Given the description of an element on the screen output the (x, y) to click on. 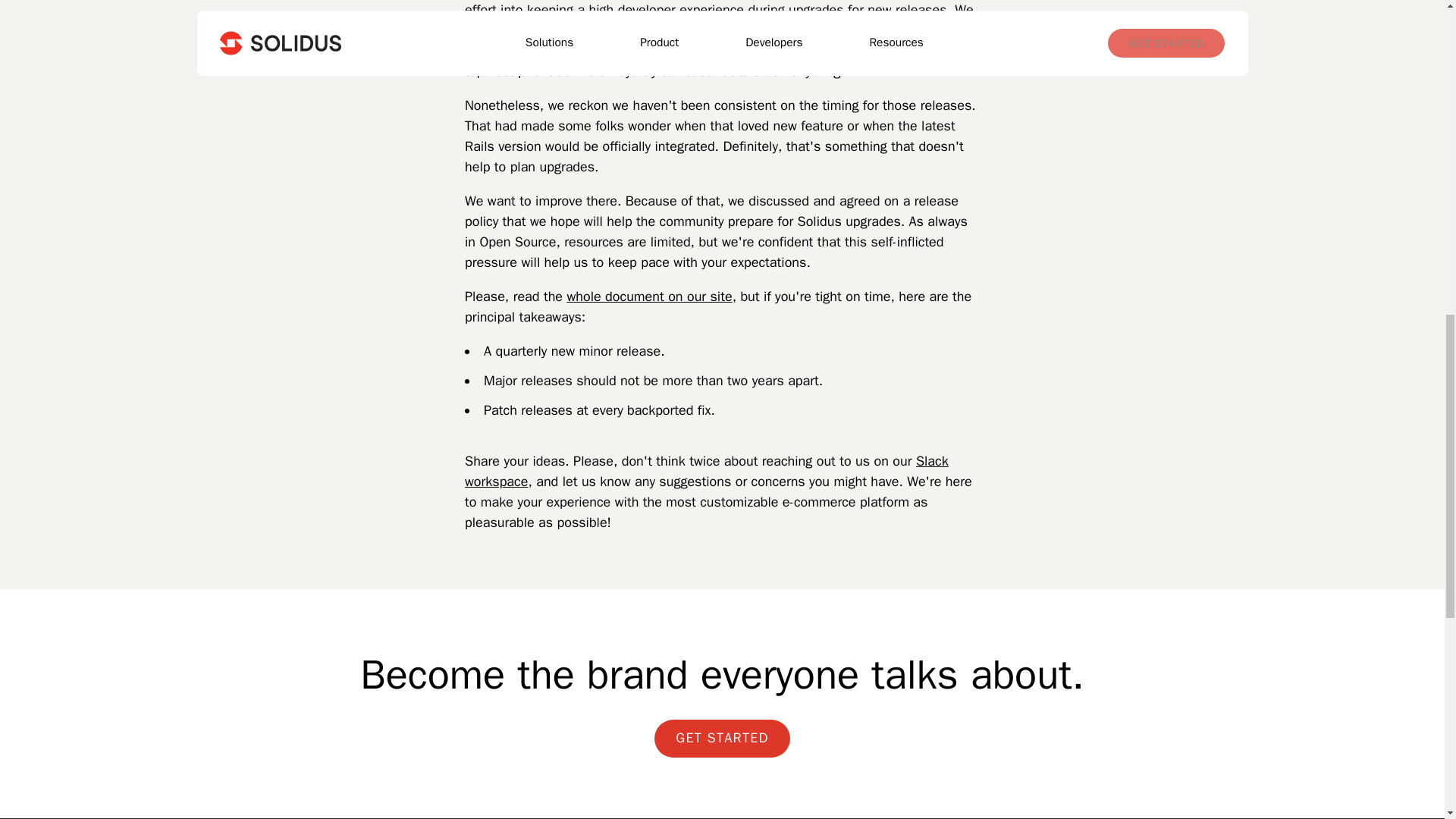
whole document on our site (649, 296)
Slack workspace (706, 470)
GET STARTED (721, 738)
